Given the description of an element on the screen output the (x, y) to click on. 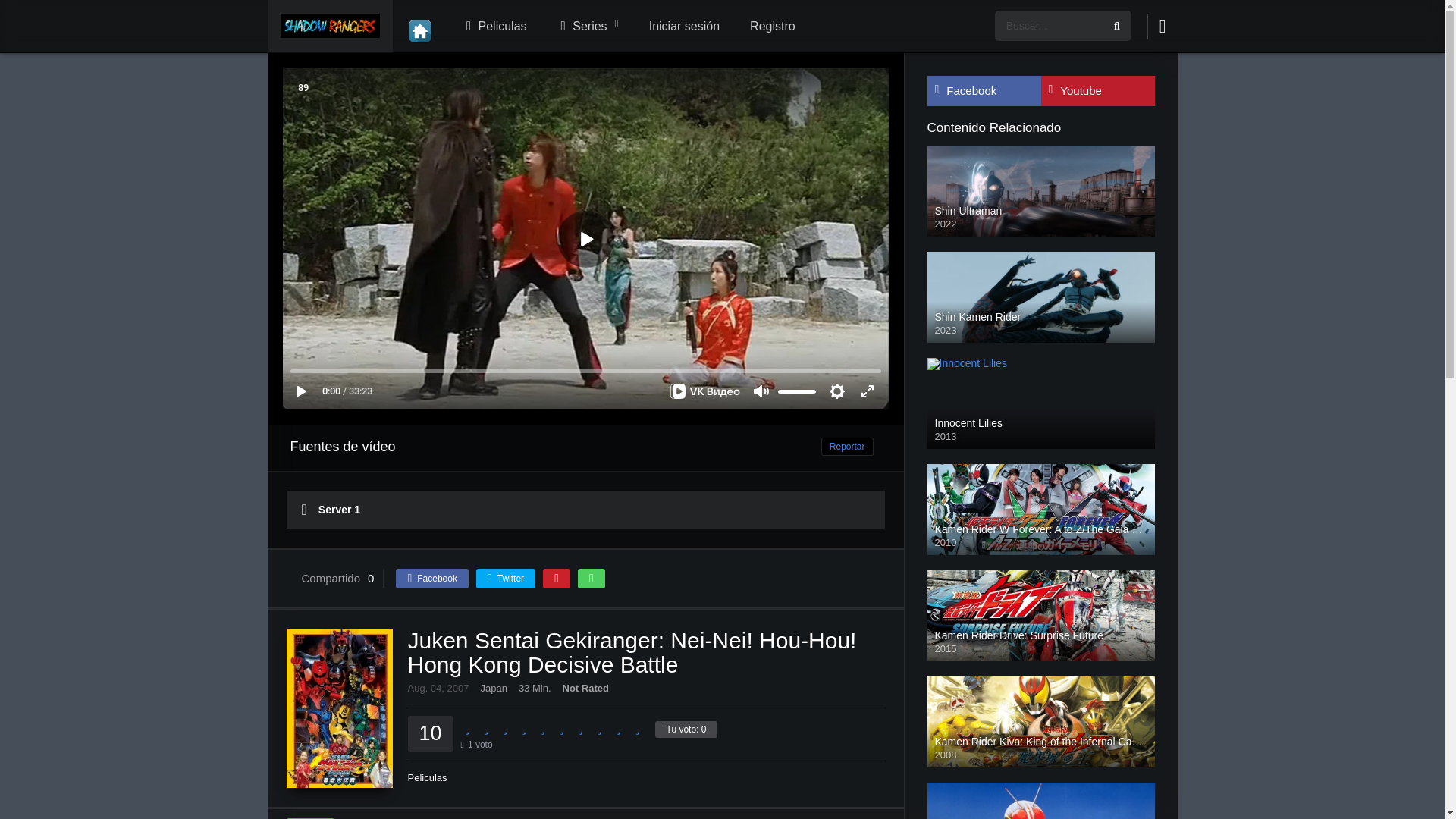
Series (587, 26)
Peliculas (493, 26)
Registro (772, 26)
